Given the description of an element on the screen output the (x, y) to click on. 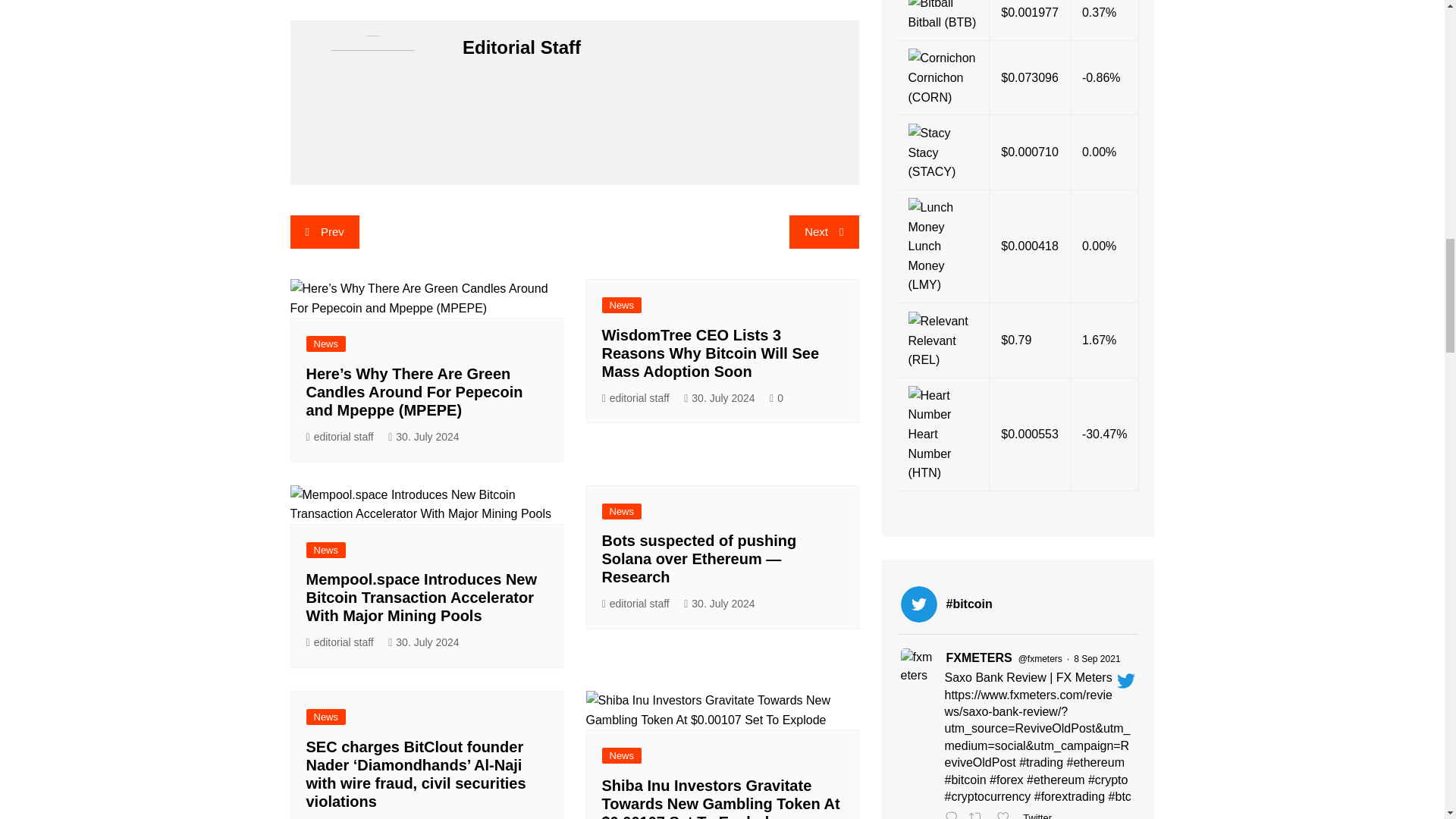
News (325, 549)
Prev (323, 231)
30. July 2024 (719, 398)
News (622, 304)
editorial staff (339, 642)
Next (824, 231)
editorial staff (635, 398)
30. July 2024 (423, 436)
News (325, 343)
30. July 2024 (423, 642)
editorial staff (339, 436)
